Given the description of an element on the screen output the (x, y) to click on. 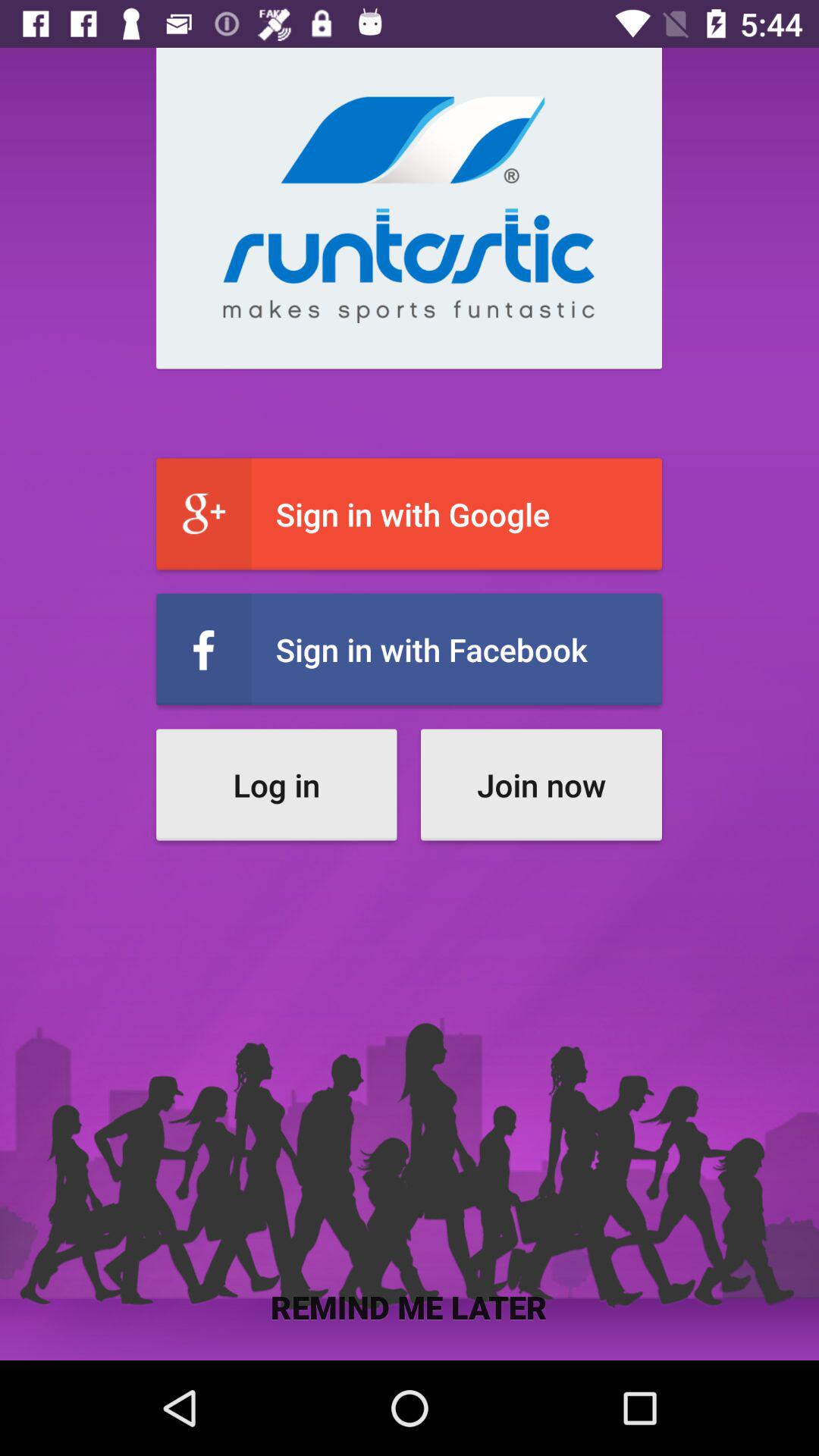
turn on icon to the left of the join now item (276, 784)
